Given the description of an element on the screen output the (x, y) to click on. 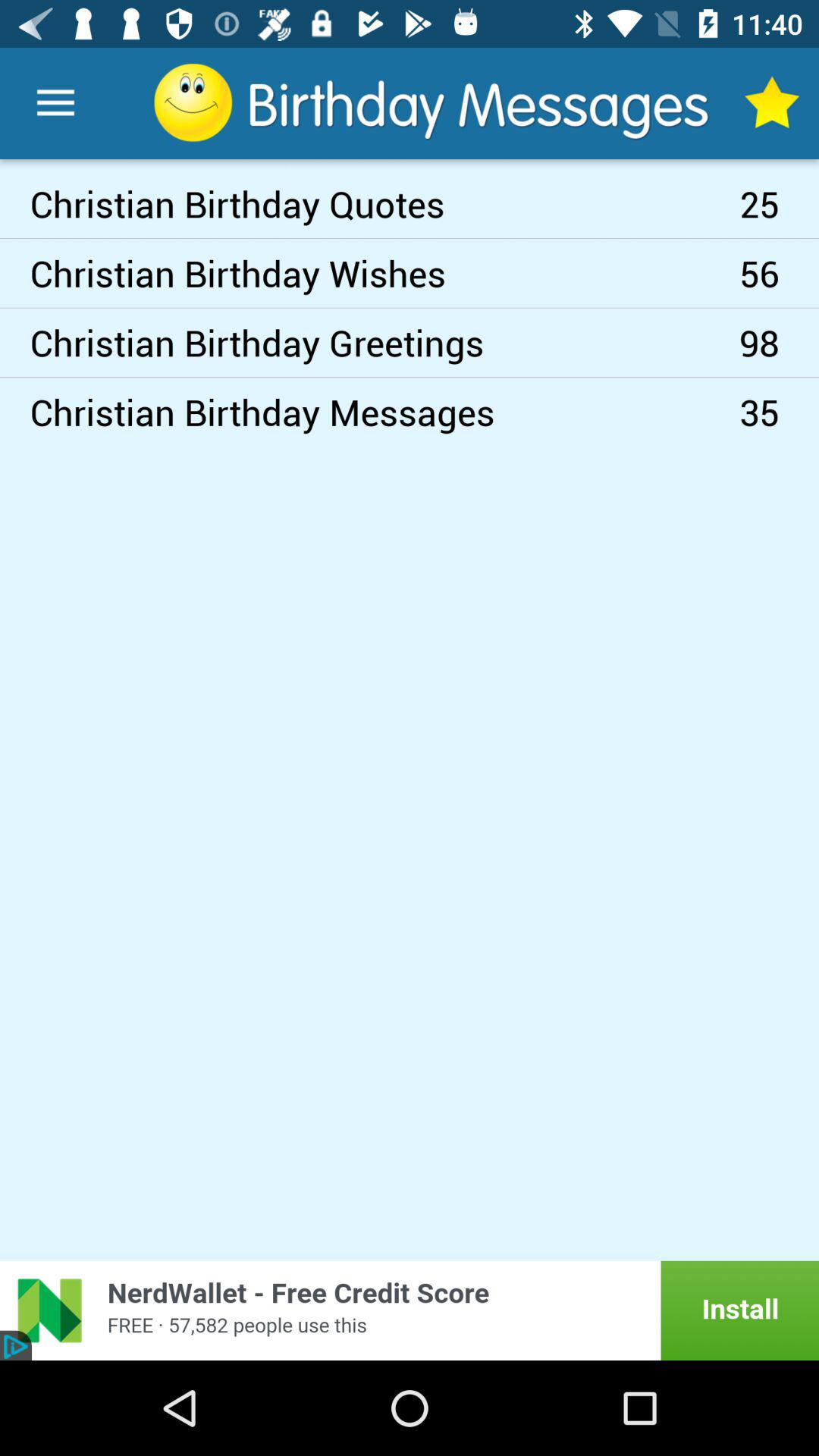
tap the icon below the 56 icon (779, 342)
